Given the description of an element on the screen output the (x, y) to click on. 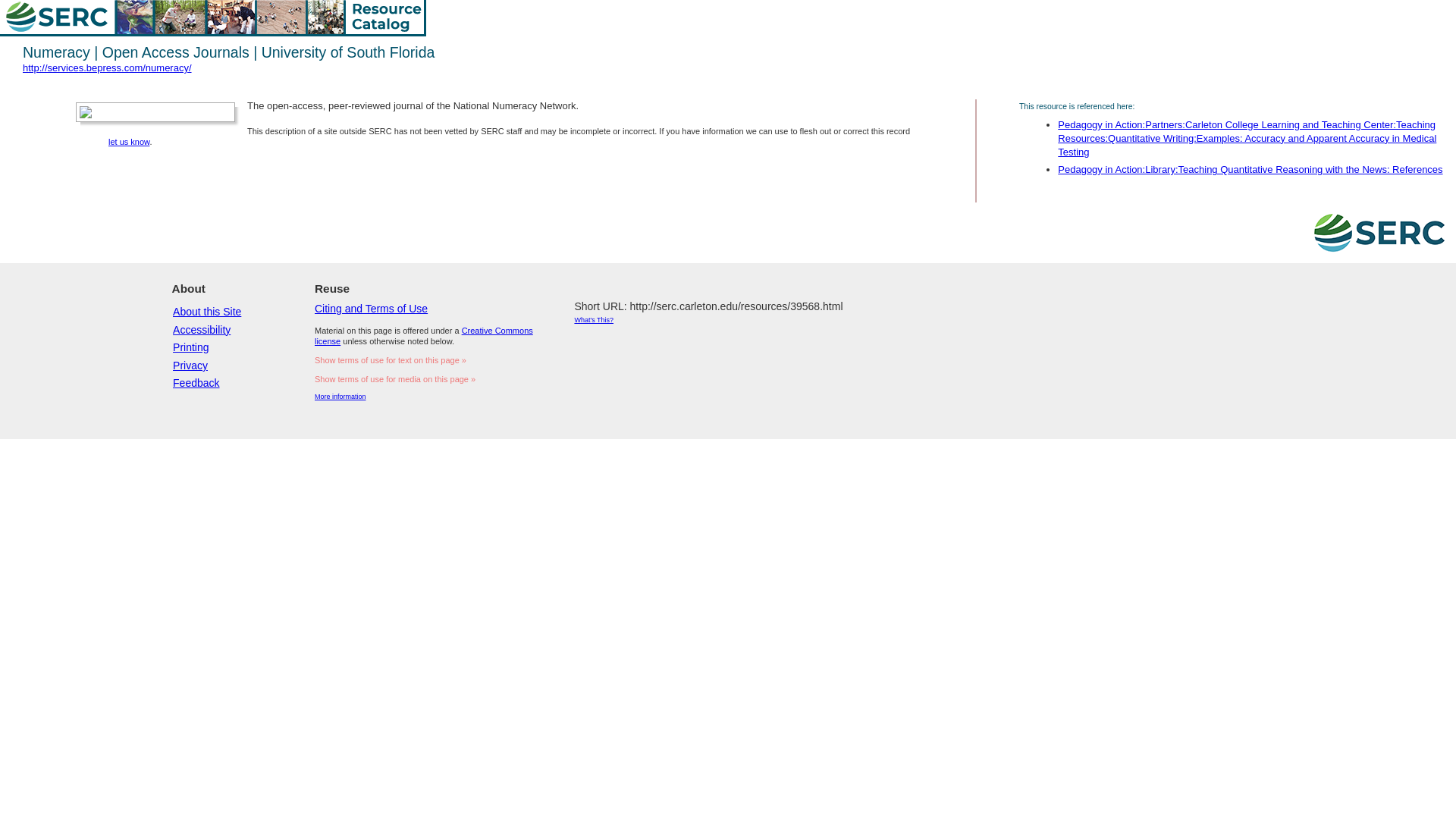
Feedback (196, 382)
What's This? (592, 319)
More information (340, 396)
Creative Commons license (423, 335)
Citing and Terms of Use (371, 308)
About this Site (207, 311)
Printing (190, 346)
Accessibility (201, 329)
let us know (128, 141)
Privacy (190, 365)
